Given the description of an element on the screen output the (x, y) to click on. 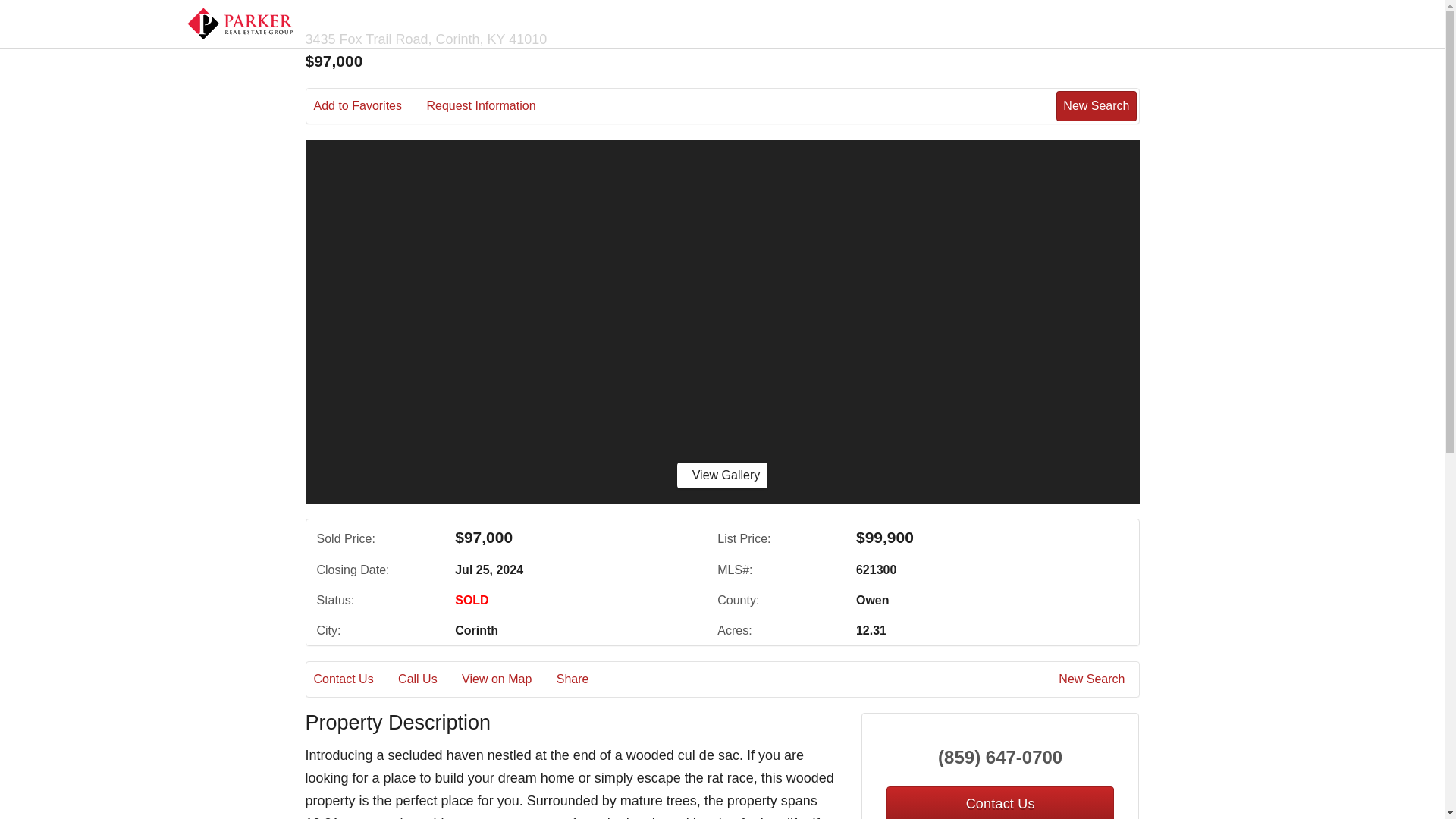
Contact Us (354, 679)
New Search (1094, 679)
Request Information (491, 106)
Contact Us (999, 802)
View Gallery (722, 475)
View on Map (507, 679)
View Gallery (722, 474)
Add to Favorites (368, 106)
Call Us (427, 679)
Share (583, 679)
New Search (1096, 105)
